Given the description of an element on the screen output the (x, y) to click on. 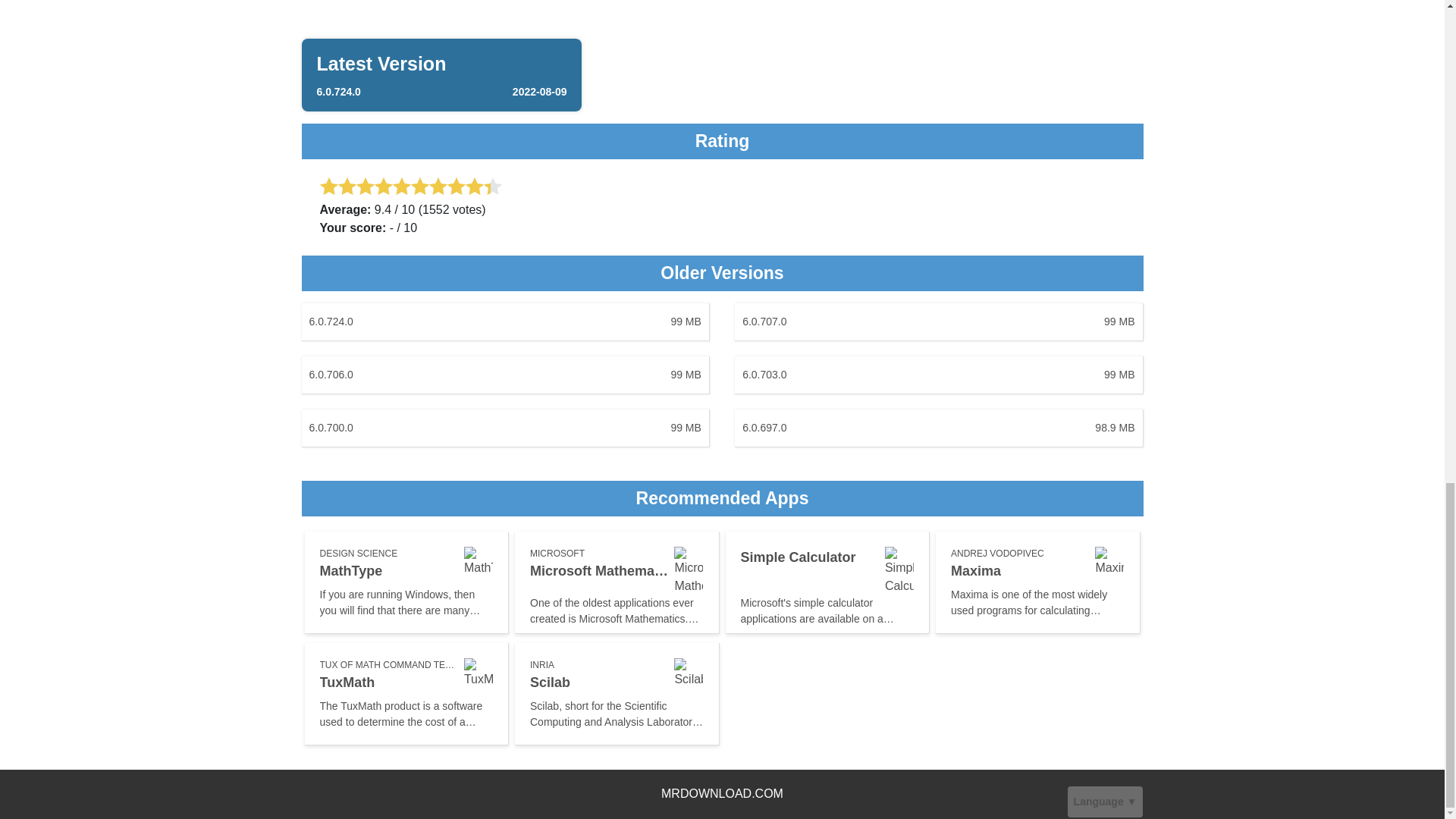
Simple Calculator (827, 582)
Scilab (442, 74)
MathType (617, 693)
TuxMath (406, 582)
Maxima (505, 322)
Microsoft Mathematics (406, 693)
